Given the description of an element on the screen output the (x, y) to click on. 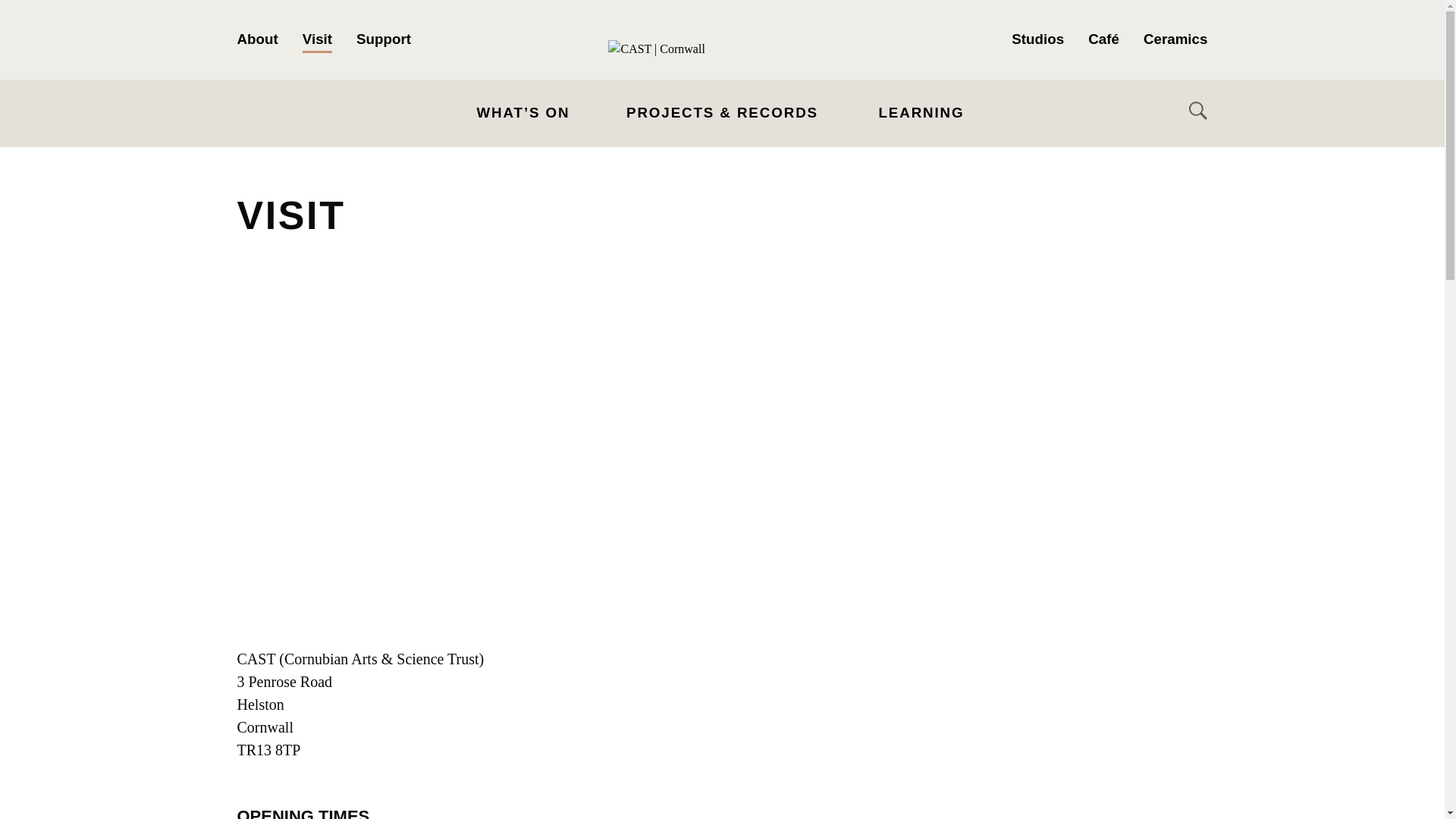
About (256, 39)
Ceramics (1175, 39)
LEARNING (920, 112)
Support (383, 39)
Visit (316, 39)
Studios (1037, 39)
